Given the description of an element on the screen output the (x, y) to click on. 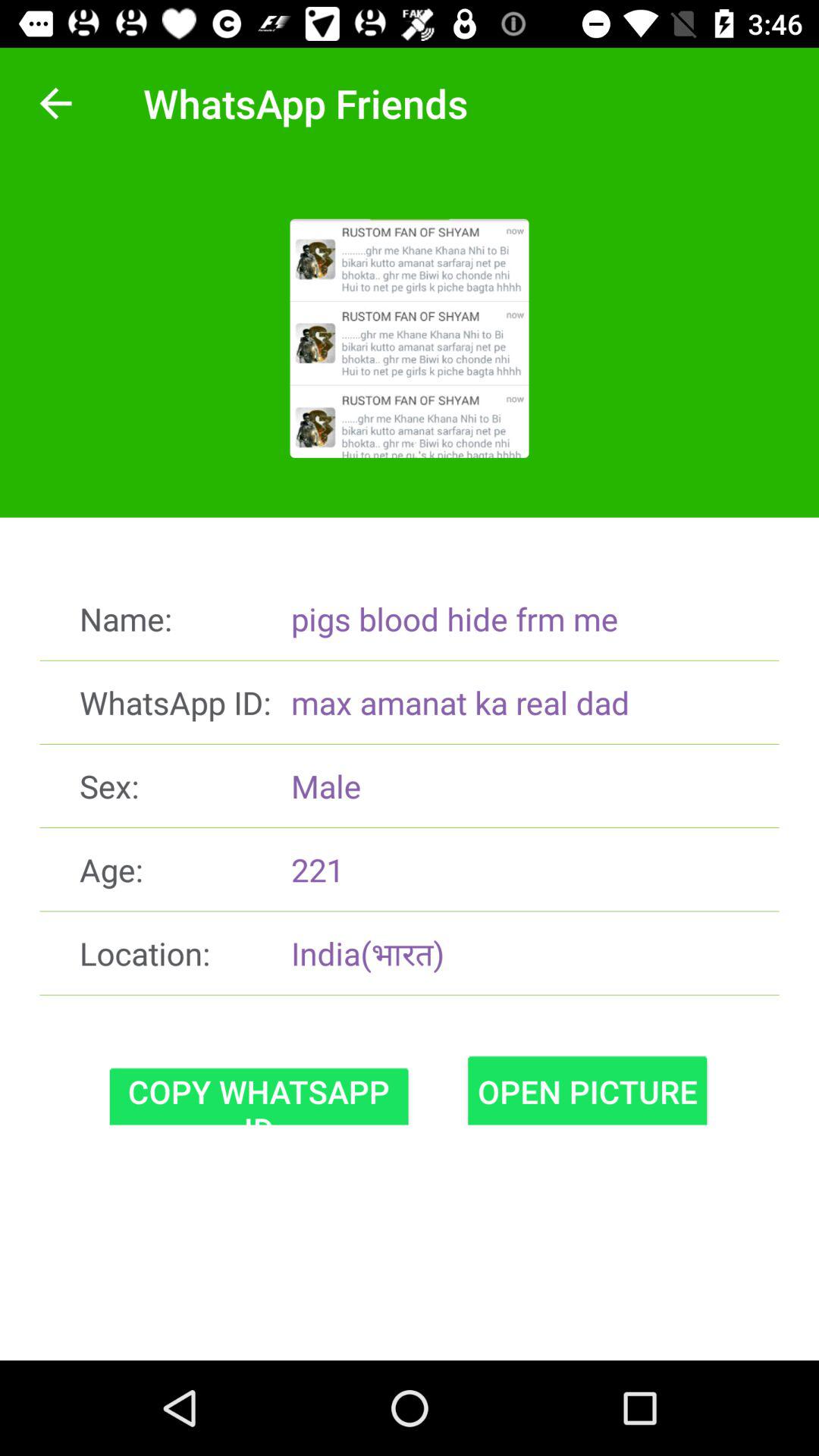
press the item next to whatsapp friends icon (55, 103)
